Given the description of an element on the screen output the (x, y) to click on. 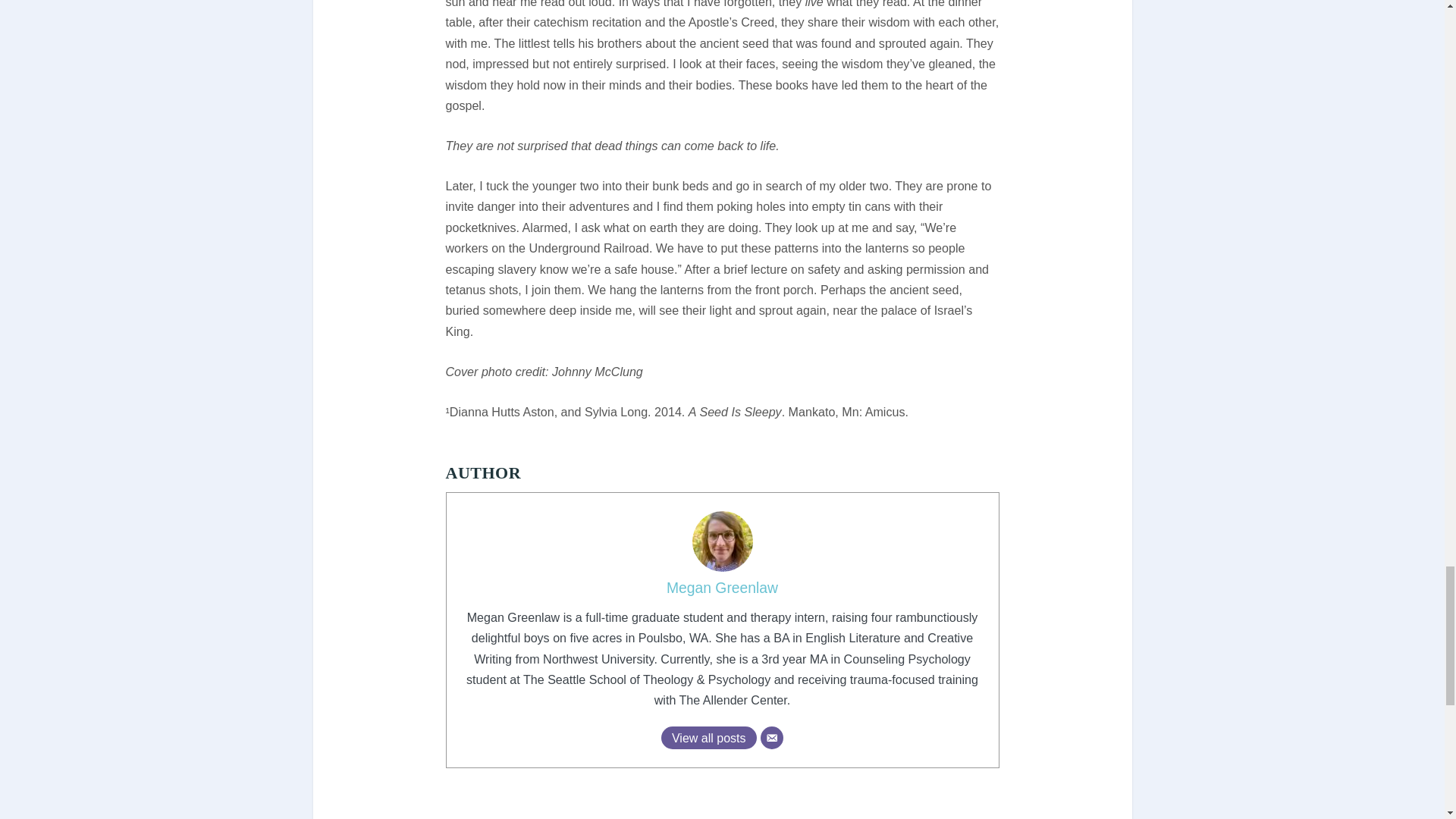
Megan Greenlaw (721, 587)
View all posts (709, 737)
Megan Greenlaw (721, 587)
View all posts (709, 737)
